Given the description of an element on the screen output the (x, y) to click on. 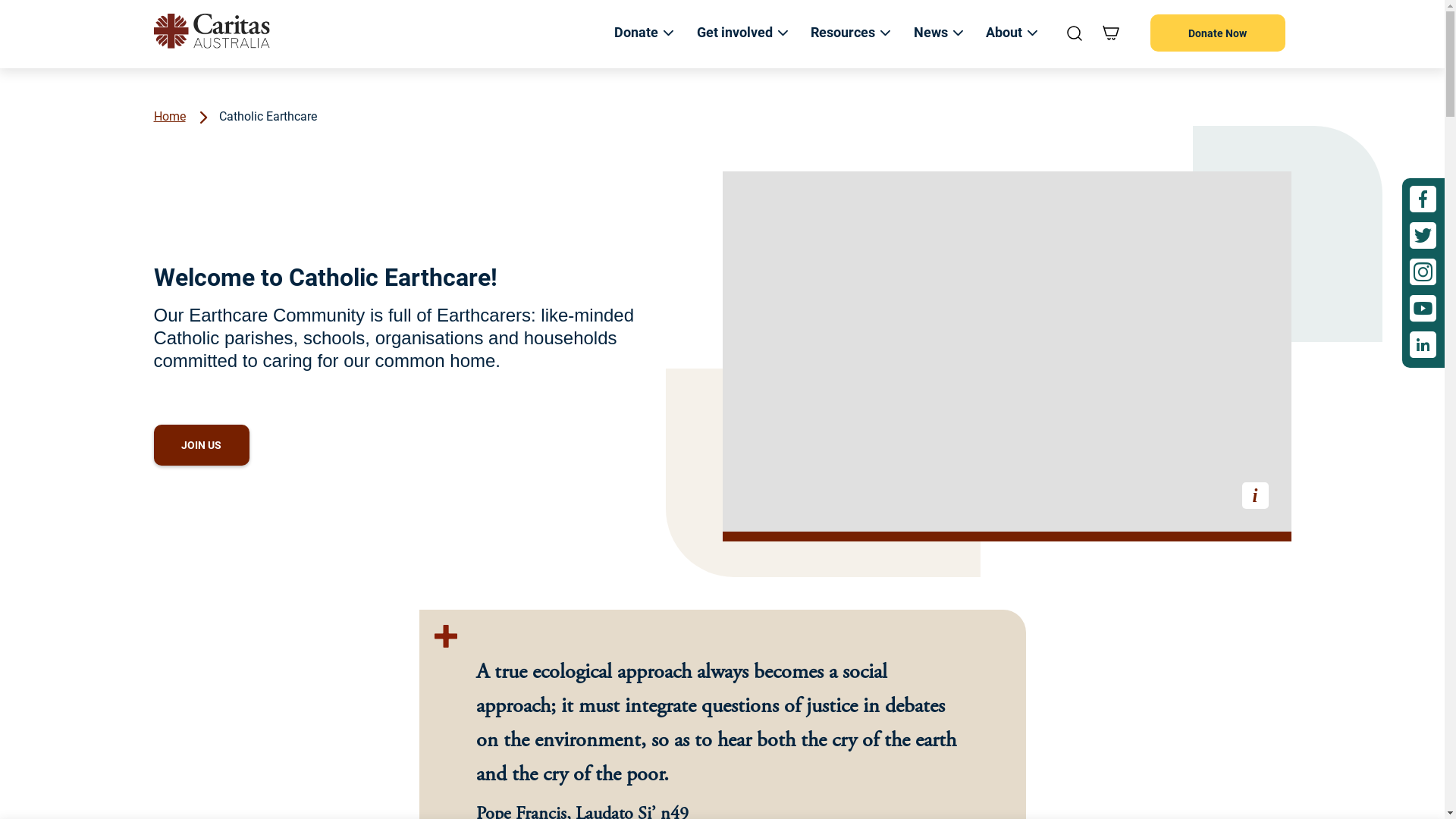
Home Element type: text (169, 115)
Donate Now Element type: text (1216, 32)
JOIN US Element type: text (200, 444)
